Given the description of an element on the screen output the (x, y) to click on. 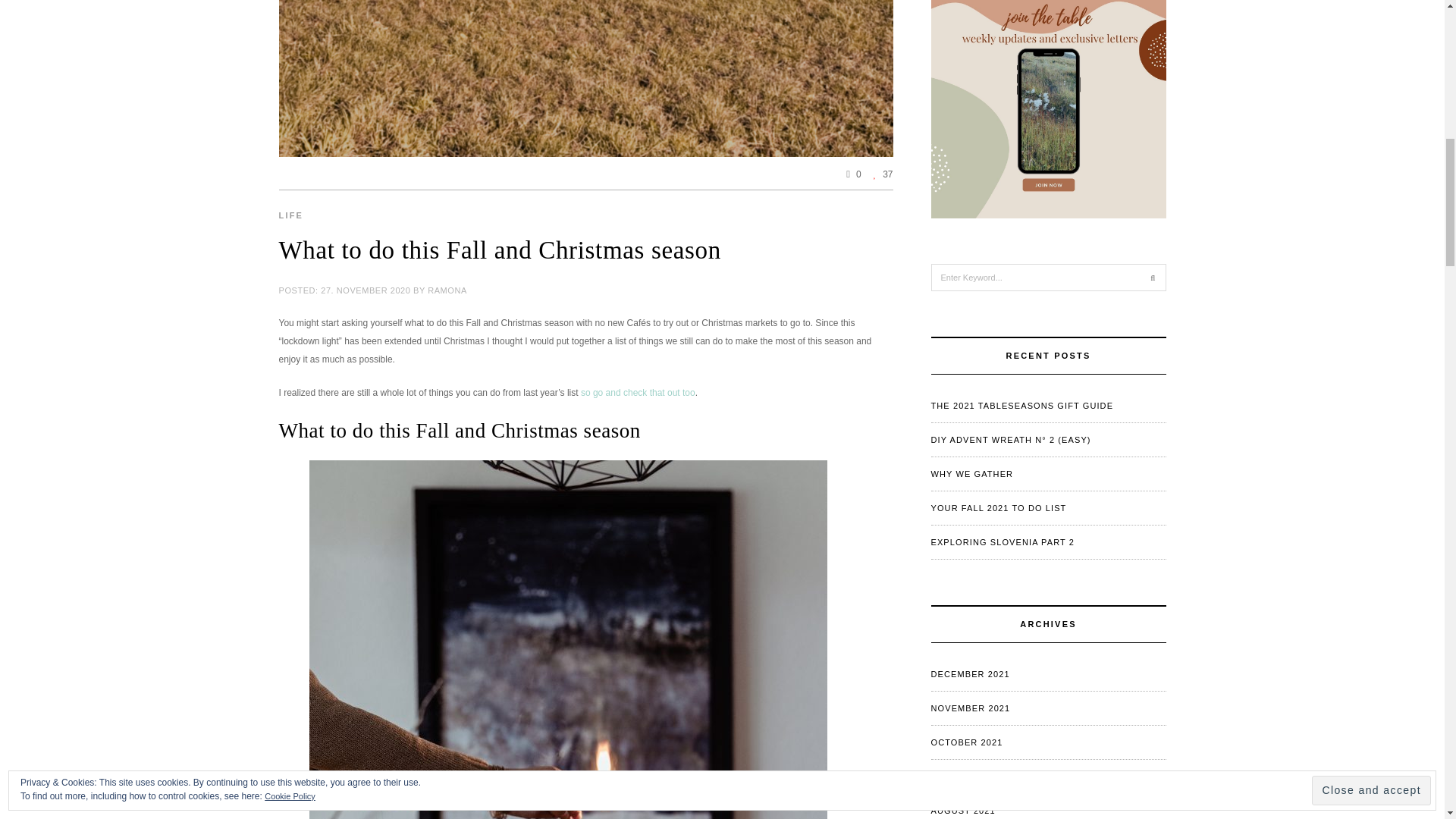
RAMONA (447, 289)
Posts by category Life (291, 215)
0 (853, 173)
so go and check that out too (637, 391)
LIFE (291, 215)
27. NOVEMBER 2020 (365, 289)
